Given the description of an element on the screen output the (x, y) to click on. 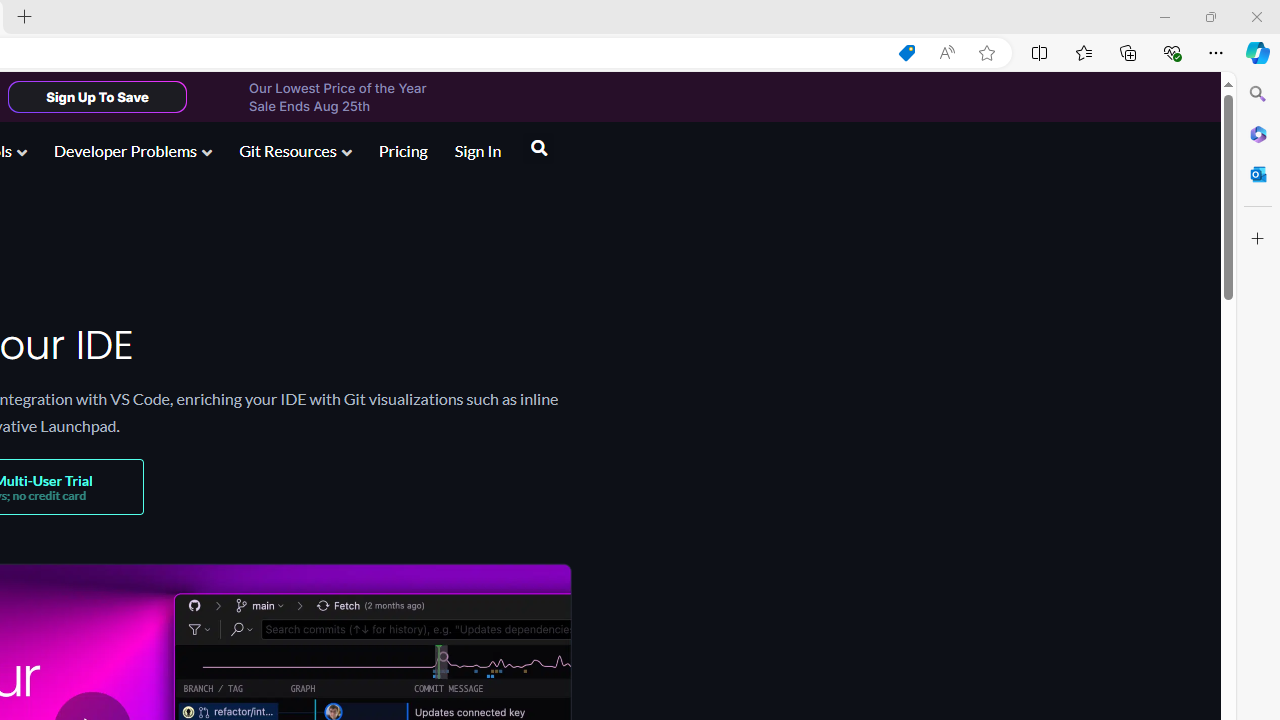
Sign Up To Save (97, 96)
Sign In (477, 152)
